Given the description of an element on the screen output the (x, y) to click on. 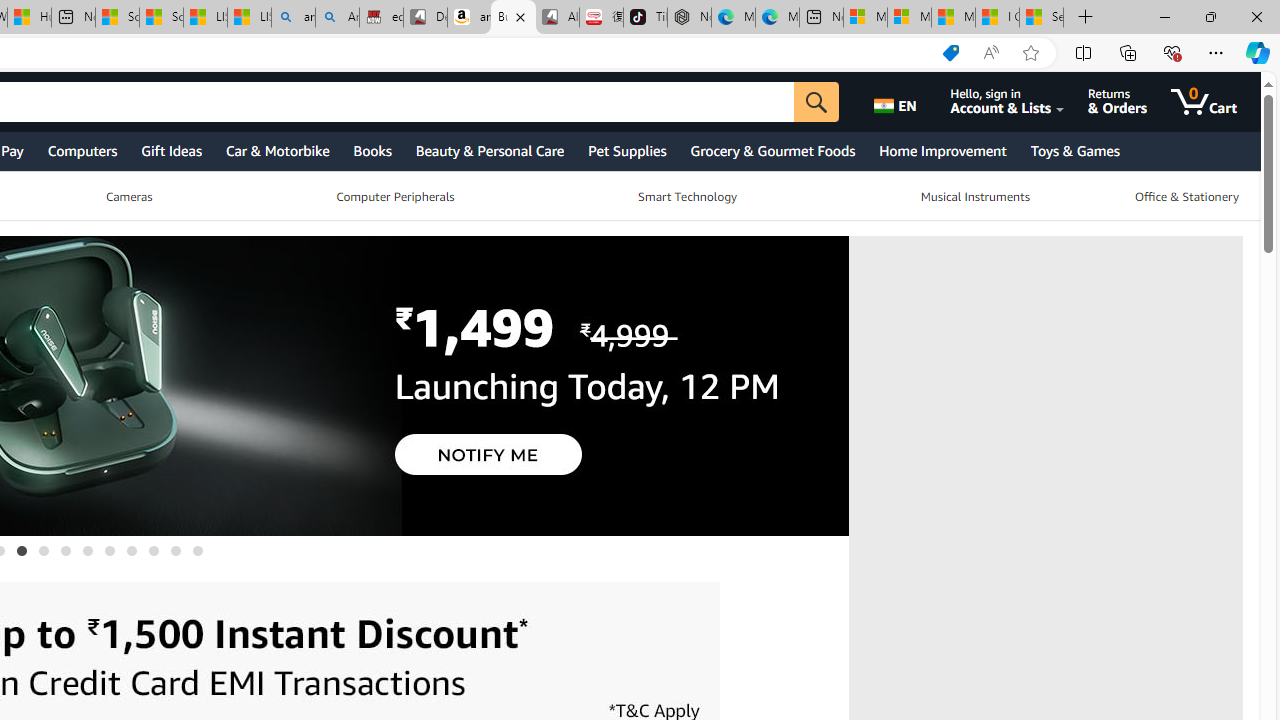
Gift Ideas (170, 150)
Computers (81, 150)
0 items in cart (1218, 101)
